Given the description of an element on the screen output the (x, y) to click on. 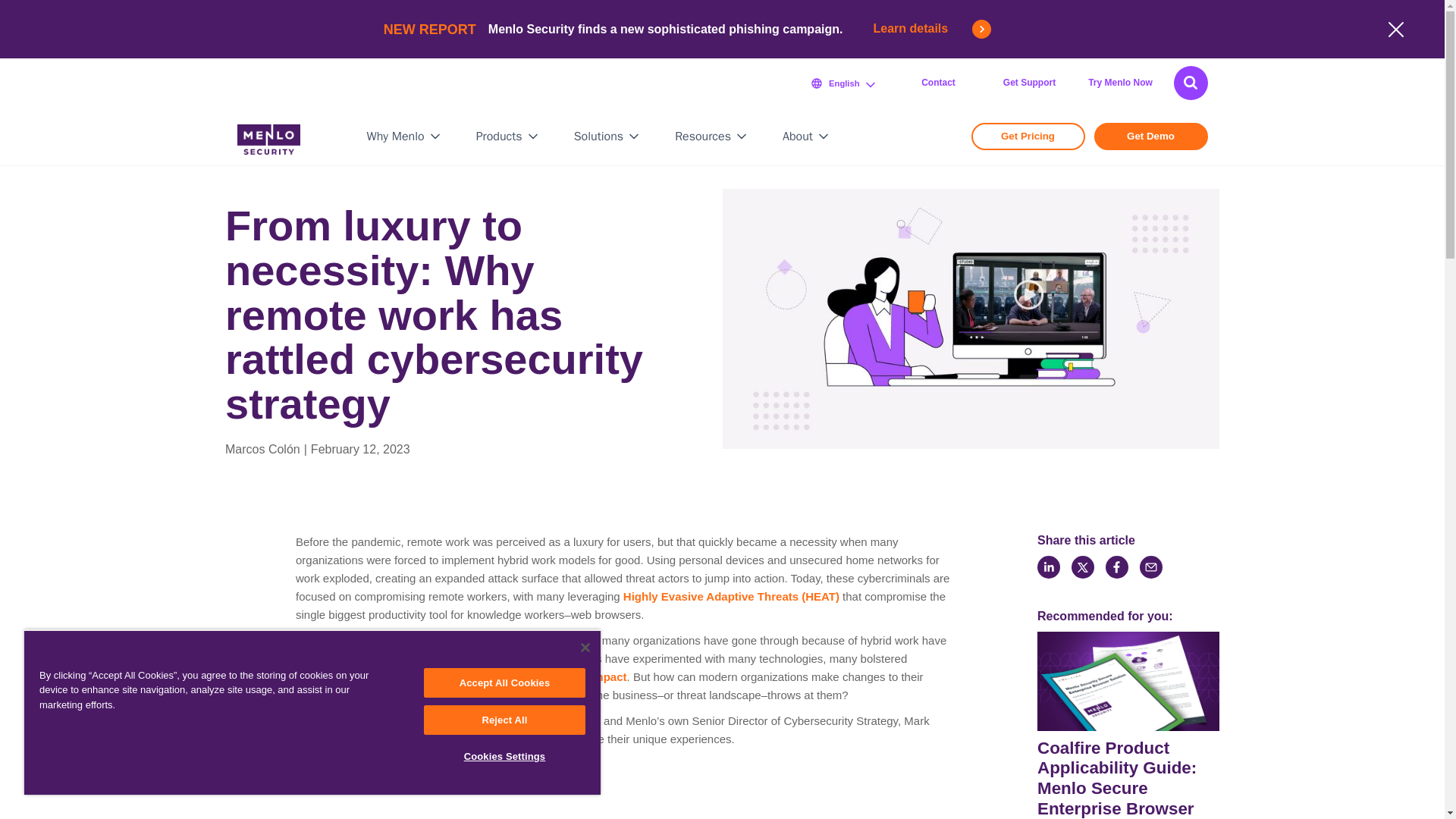
Get Support (1028, 82)
Learn details (933, 28)
Vimeo embed (623, 787)
. (1190, 82)
Contact (937, 82)
Try Menlo Now (1119, 82)
. (1190, 82)
. (1190, 82)
